Given the description of an element on the screen output the (x, y) to click on. 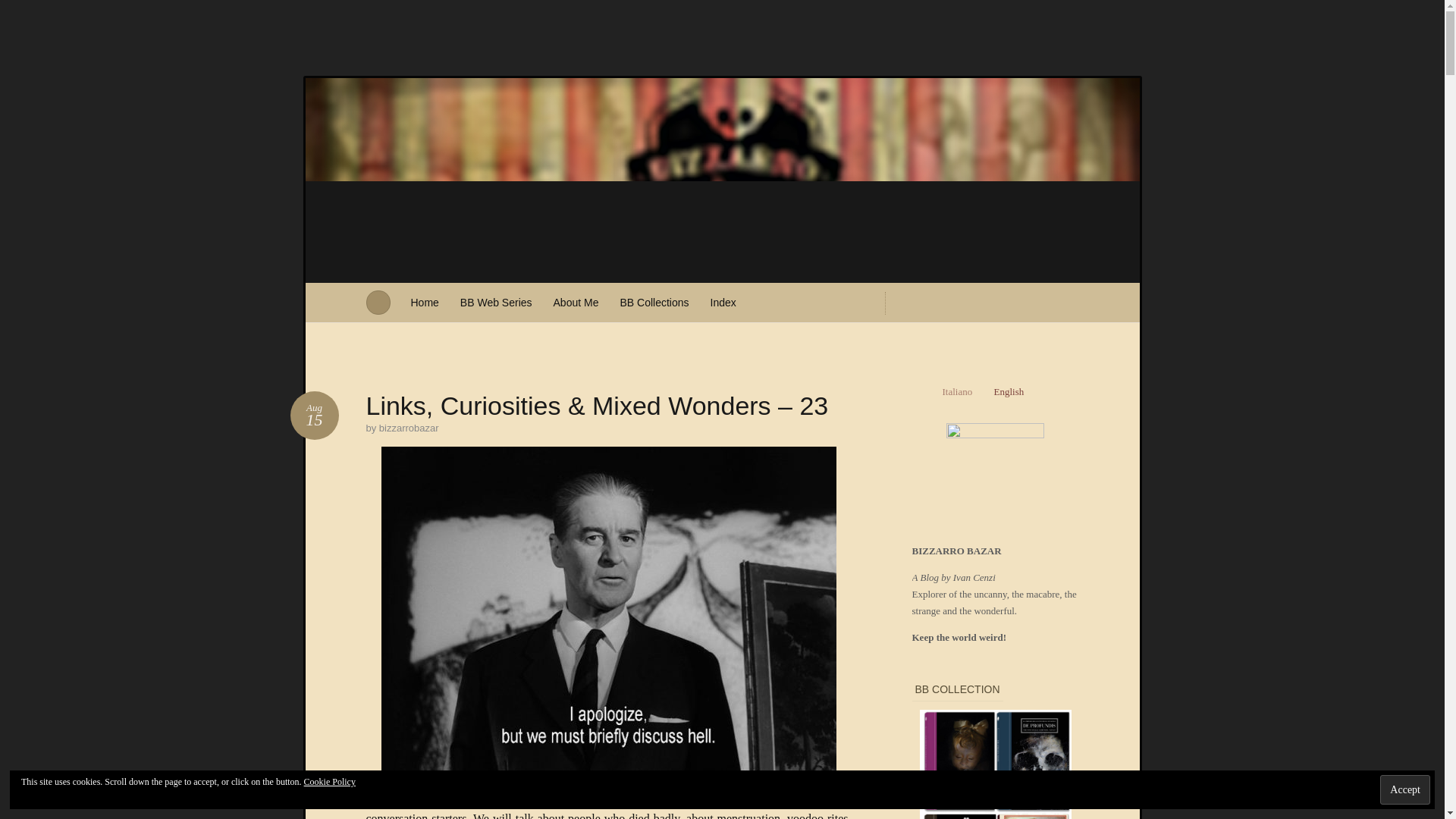
Search (21, 7)
Home (424, 301)
bizzarrobazar (408, 428)
BB Web Series (496, 301)
August 15 2020 (313, 415)
Accept (1404, 789)
BB Collections (653, 301)
View all posts by bizzarrobazar (408, 428)
Index (723, 301)
